Given the description of an element on the screen output the (x, y) to click on. 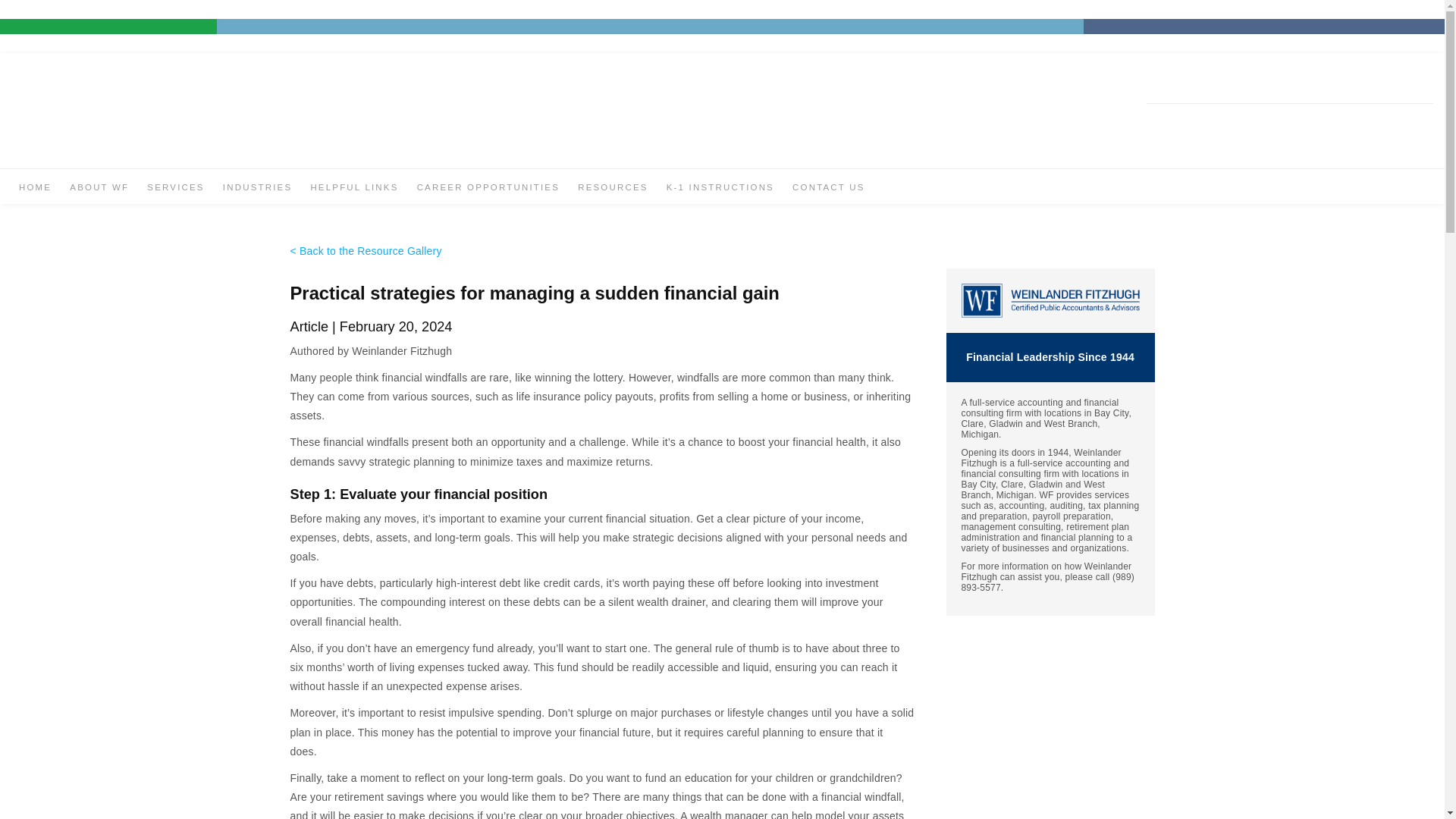
SERVICES (175, 187)
RESOURCES (612, 187)
CONTACT US (828, 187)
CAREER OPPORTUNITIES (487, 187)
ABOUT WF (99, 187)
HOME (34, 187)
SEARCH (1291, 121)
Facebook (1342, 117)
LinkedIn (1392, 117)
HELPFUL LINKS (353, 187)
INDUSTRIES (257, 187)
K-1 INSTRUCTIONS (720, 187)
PAY INVOICES (1205, 121)
